Given the description of an element on the screen output the (x, y) to click on. 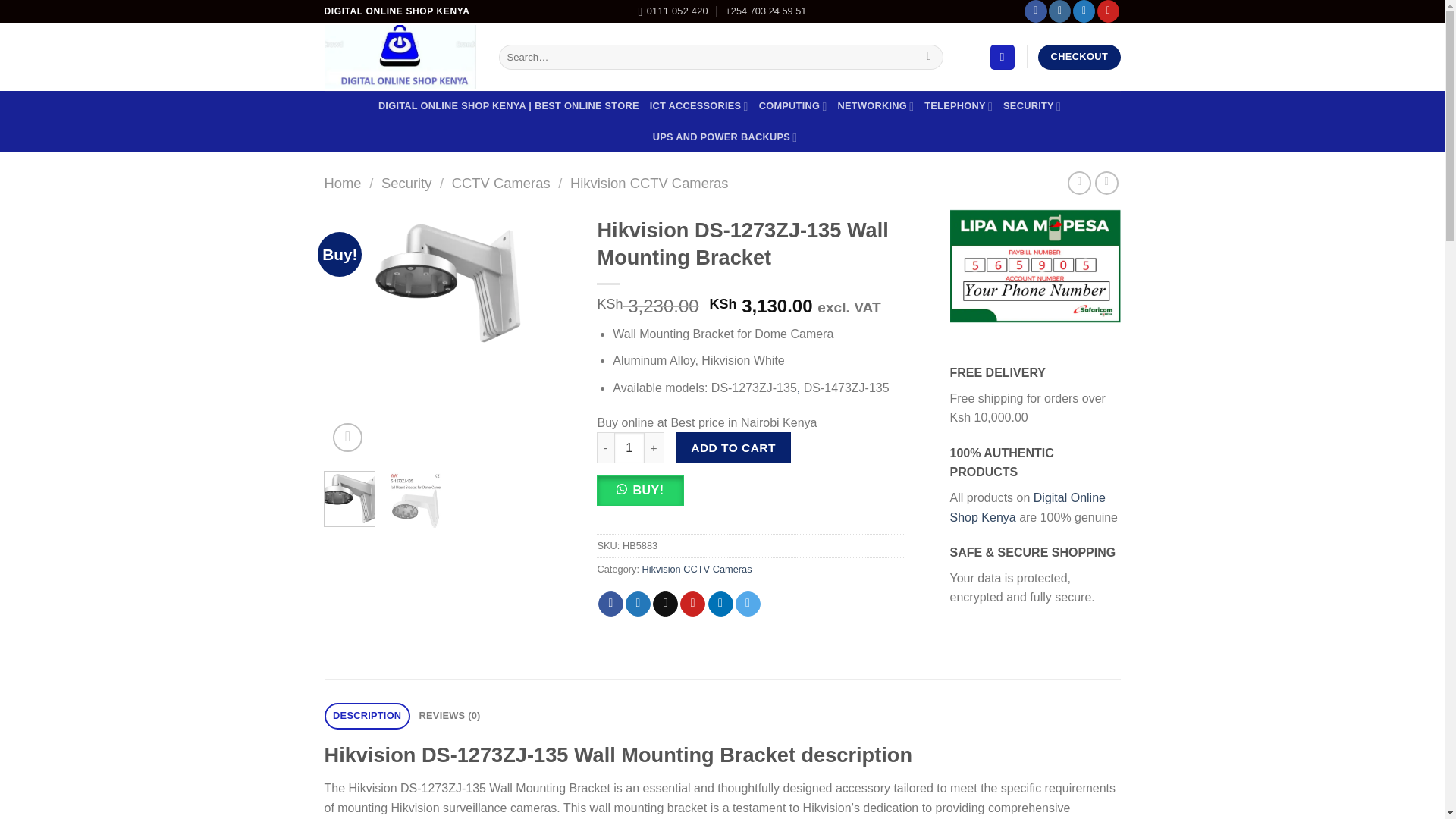
Follow on Facebook (1035, 11)
CHECKOUT (1078, 57)
Pin on Pinterest (691, 604)
Share on Telegram (747, 604)
Follow on Instagram (1059, 11)
ICT ACCESSORIES (698, 105)
Search (929, 57)
Digital Online Shop Kenya - Best Online Store in Kenya (400, 57)
Share on Twitter (638, 604)
Follow on Pinterest (1108, 11)
